Given the description of an element on the screen output the (x, y) to click on. 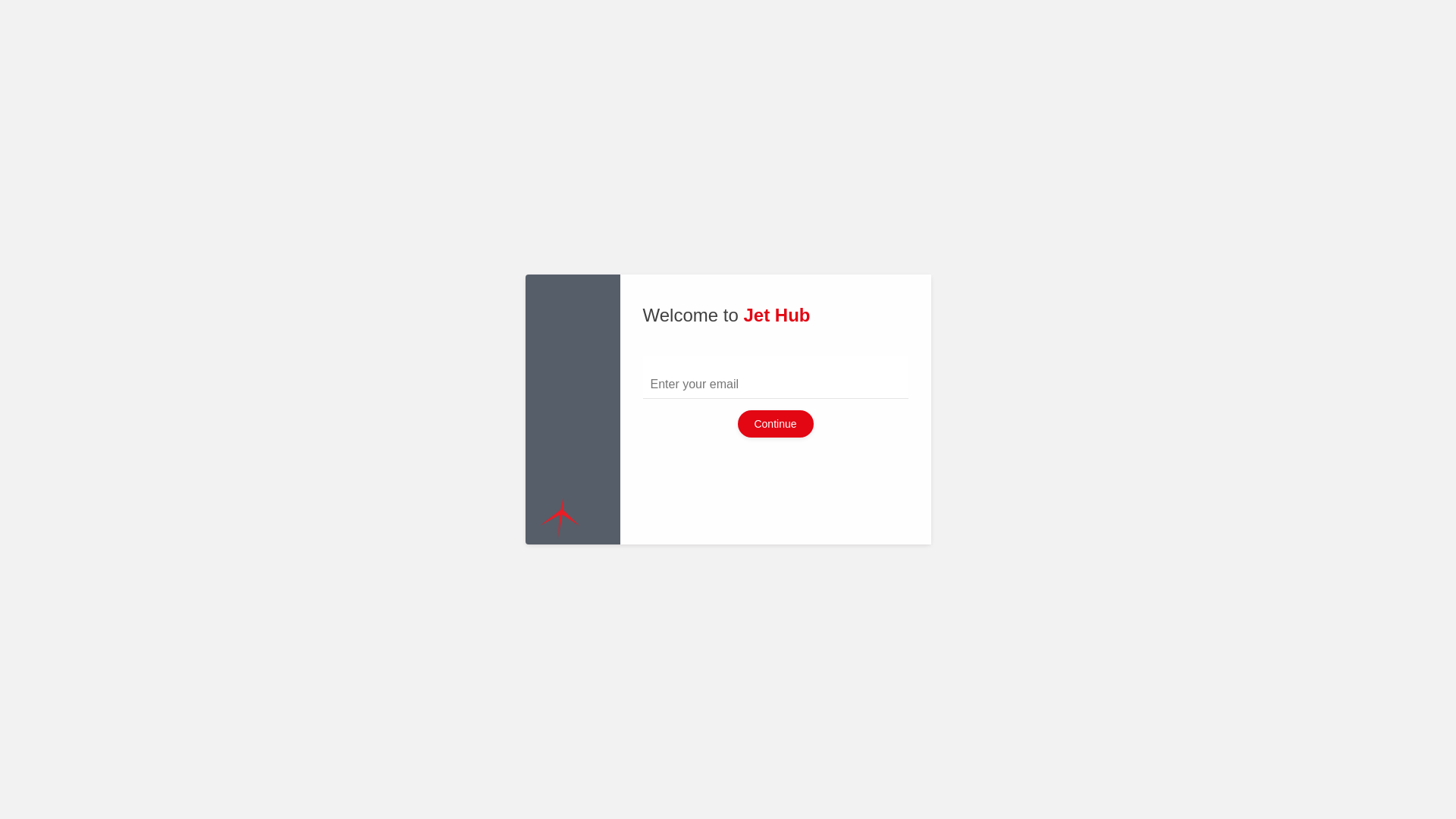
Continue Element type: text (774, 423)
